Given the description of an element on the screen output the (x, y) to click on. 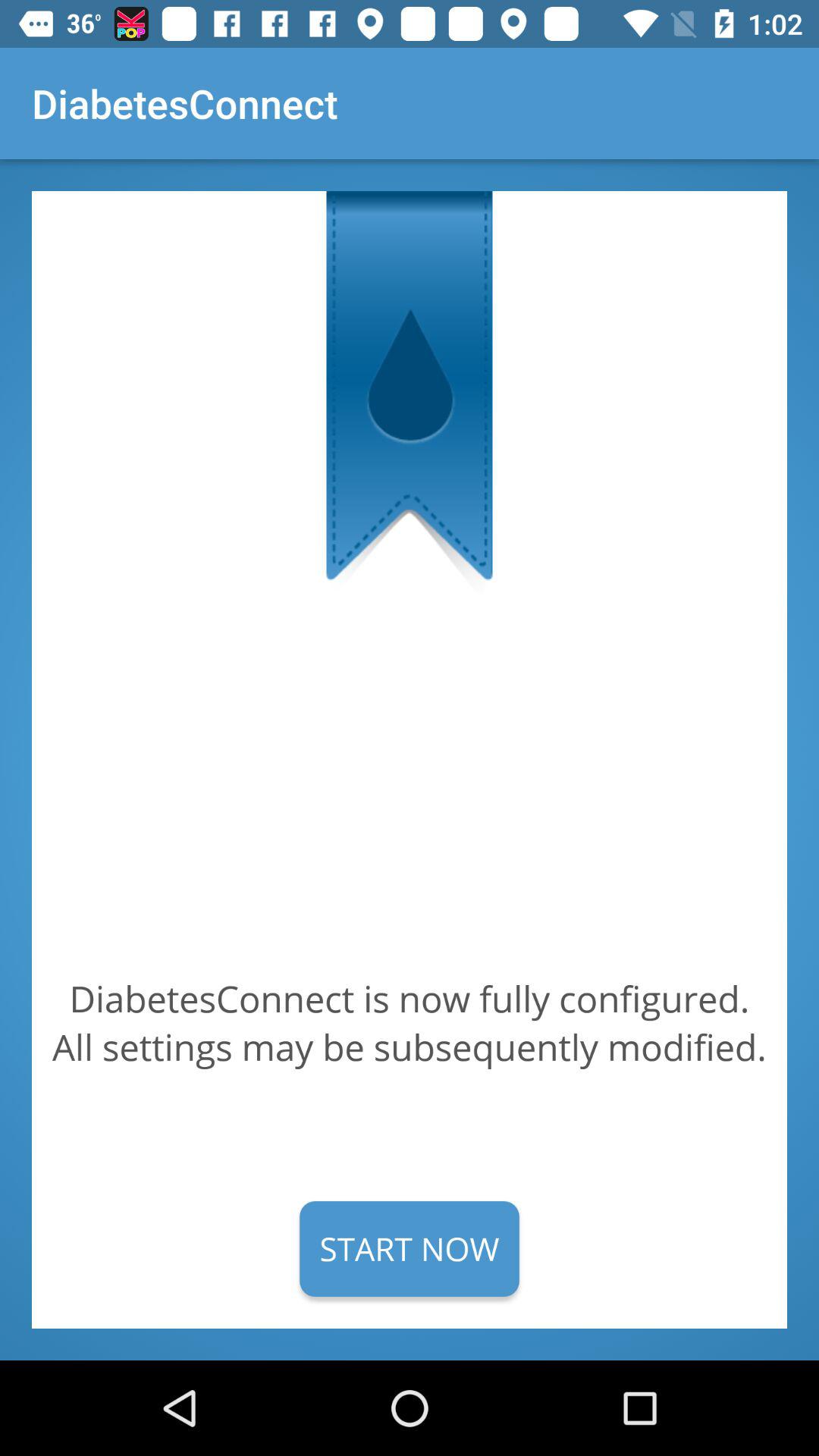
scroll to start now (409, 1248)
